Given the description of an element on the screen output the (x, y) to click on. 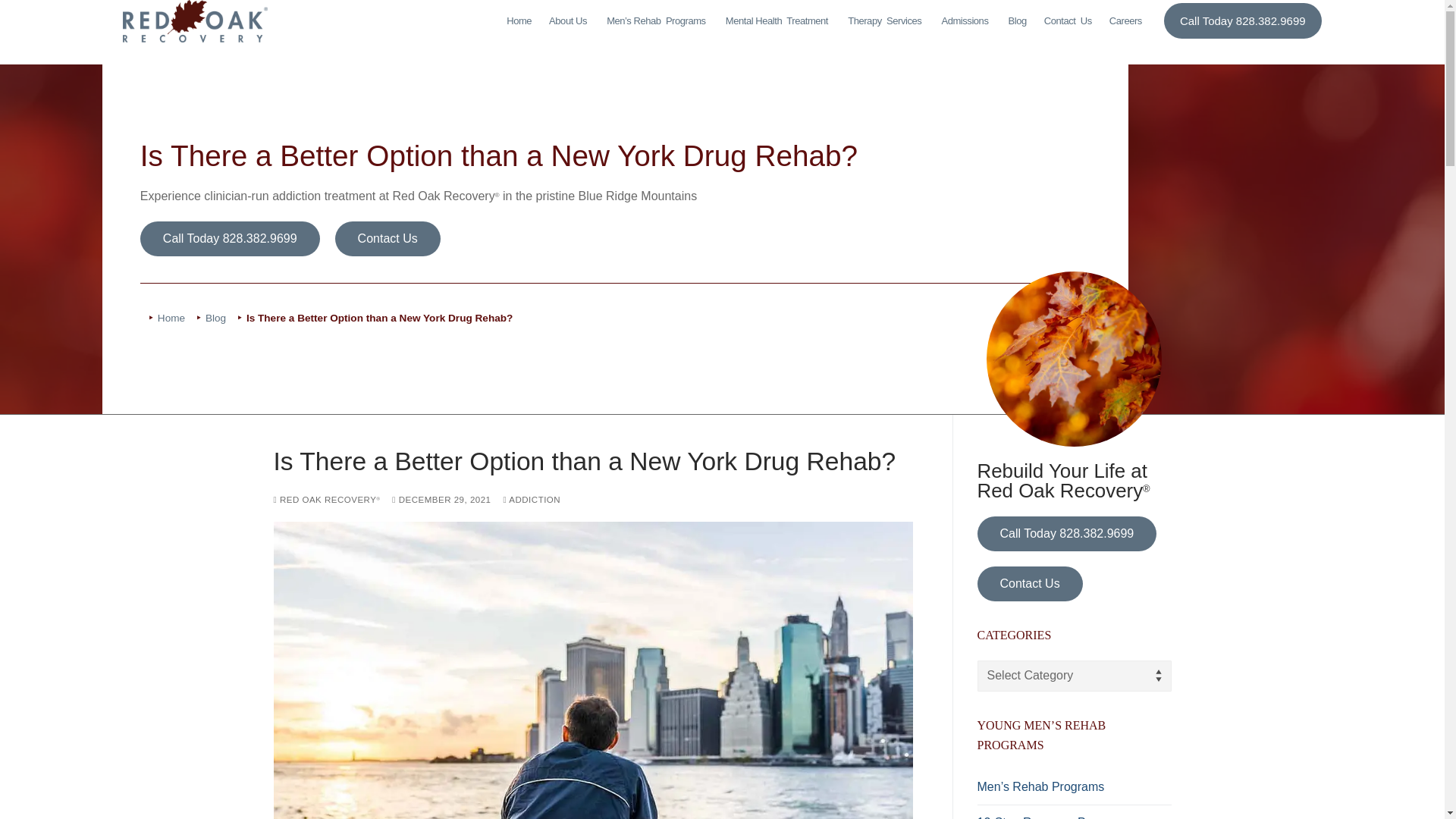
Home (885, 21)
